Given the description of an element on the screen output the (x, y) to click on. 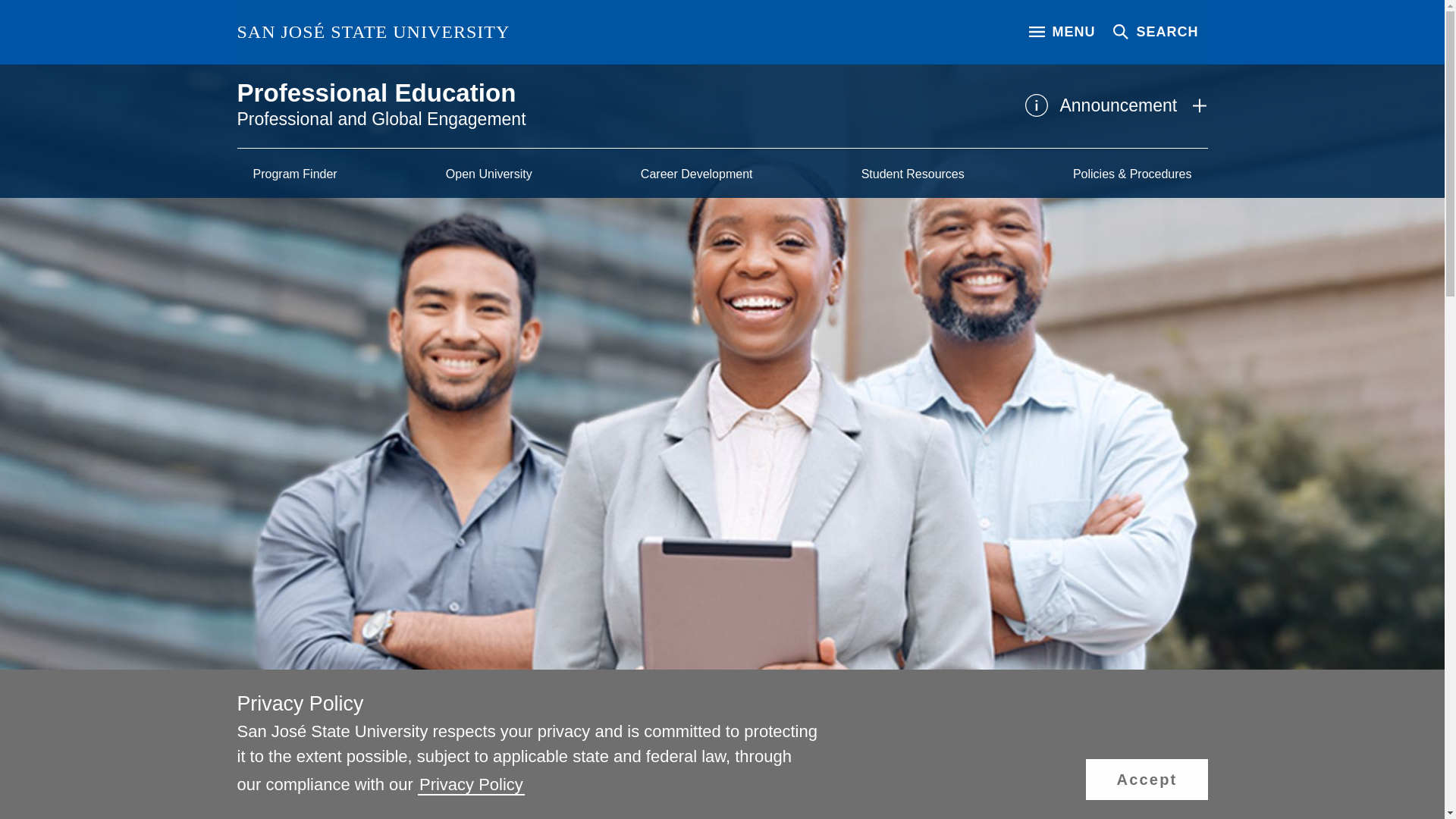
Accept (1146, 779)
MENU (1061, 31)
Privacy Policy (470, 784)
